Given the description of an element on the screen output the (x, y) to click on. 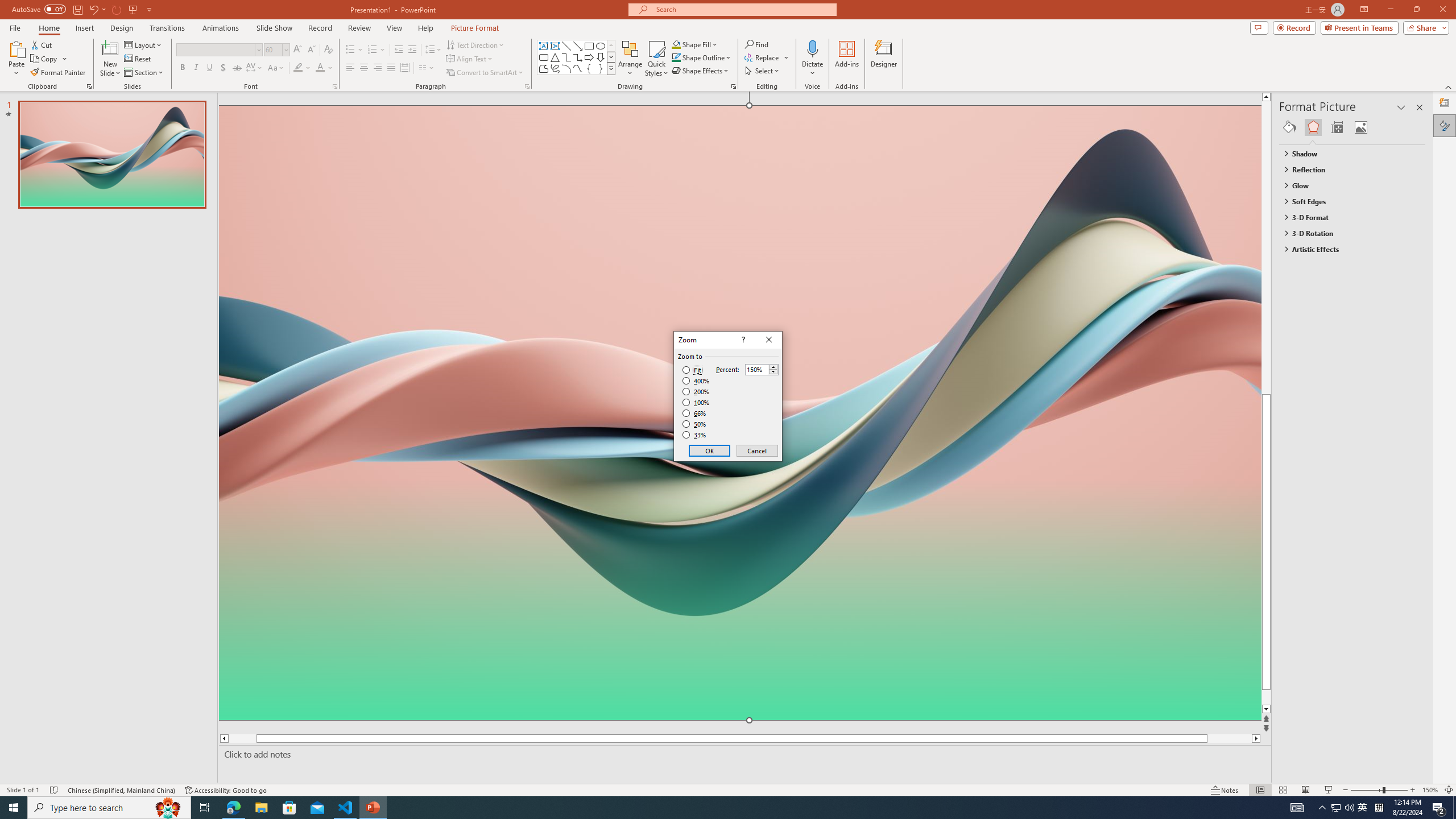
200% (696, 391)
